Given the description of an element on the screen output the (x, y) to click on. 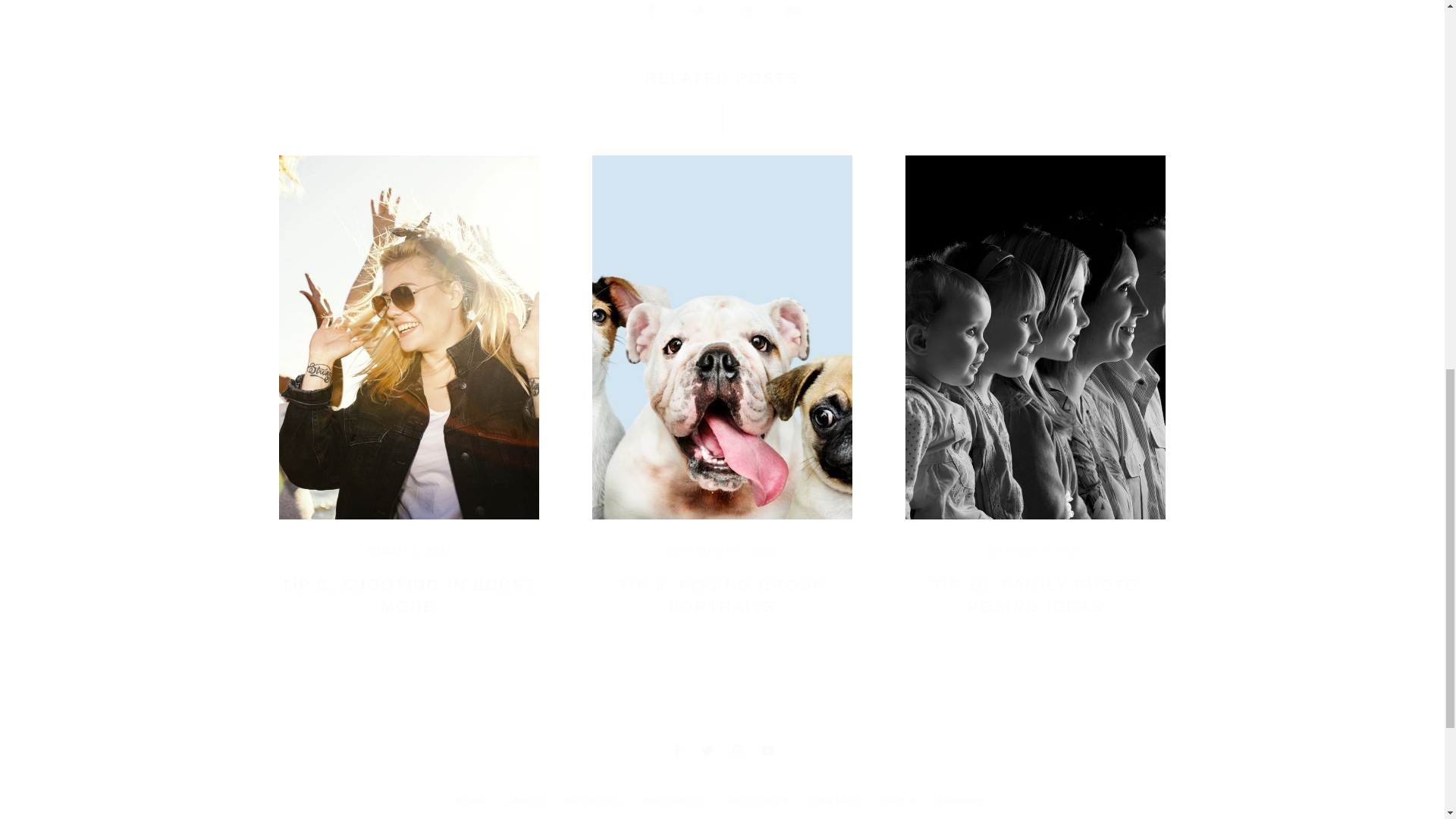
PORTFOLIO (674, 801)
SERVICES (593, 801)
CONTACT (837, 801)
PROMOS (961, 801)
ABOUT (525, 801)
HOME (470, 801)
GALLERIES (758, 801)
